Given the description of an element on the screen output the (x, y) to click on. 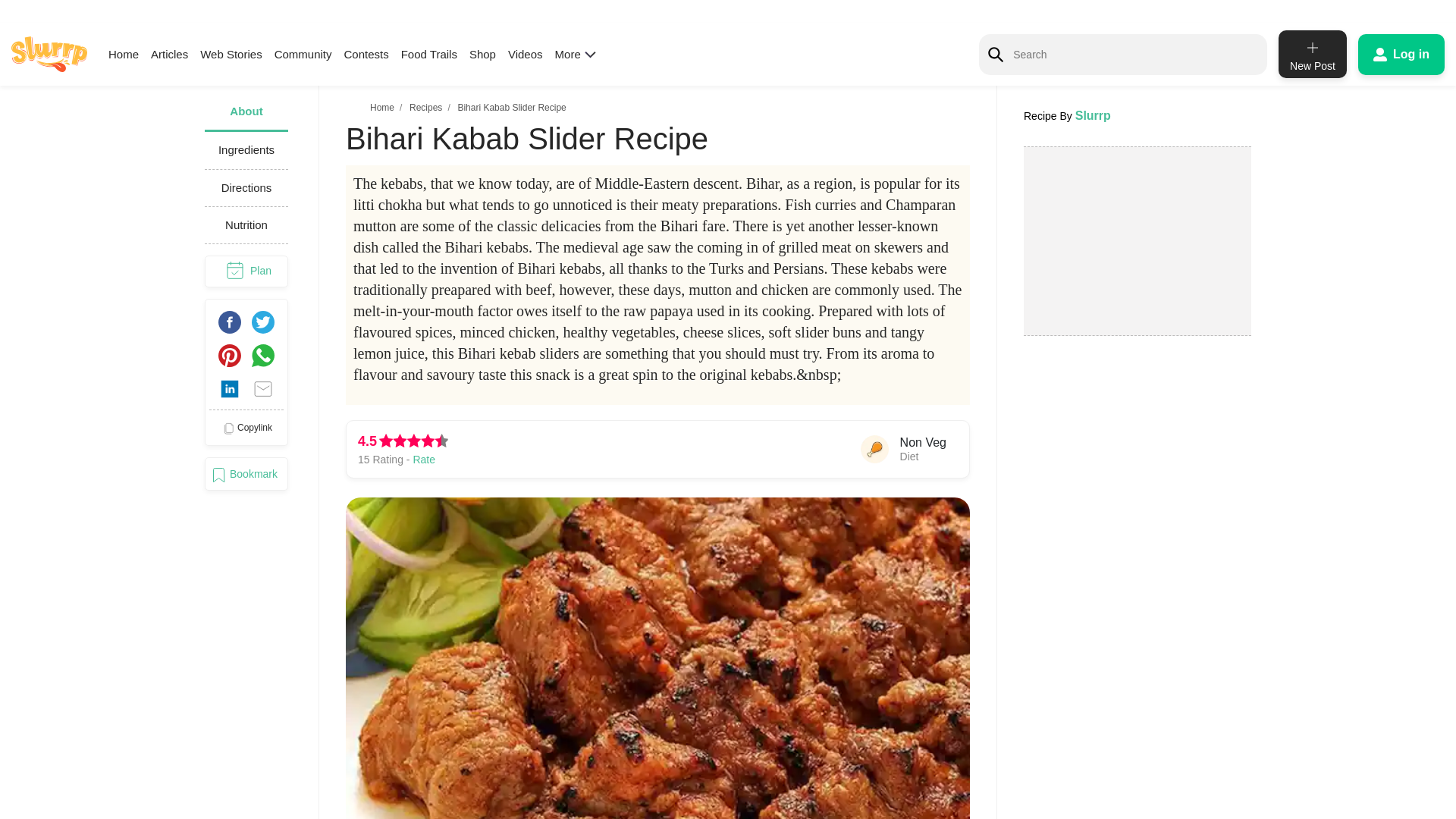
Community (303, 53)
Contests (365, 53)
Copylink (246, 427)
Shop (482, 53)
Recipes (425, 107)
Food Trails (429, 53)
Home (381, 107)
Home (122, 53)
Articles (169, 53)
user login (1401, 53)
New Post (1312, 53)
Log in (1401, 53)
copy link (246, 427)
Web Stories (231, 53)
